Given the description of an element on the screen output the (x, y) to click on. 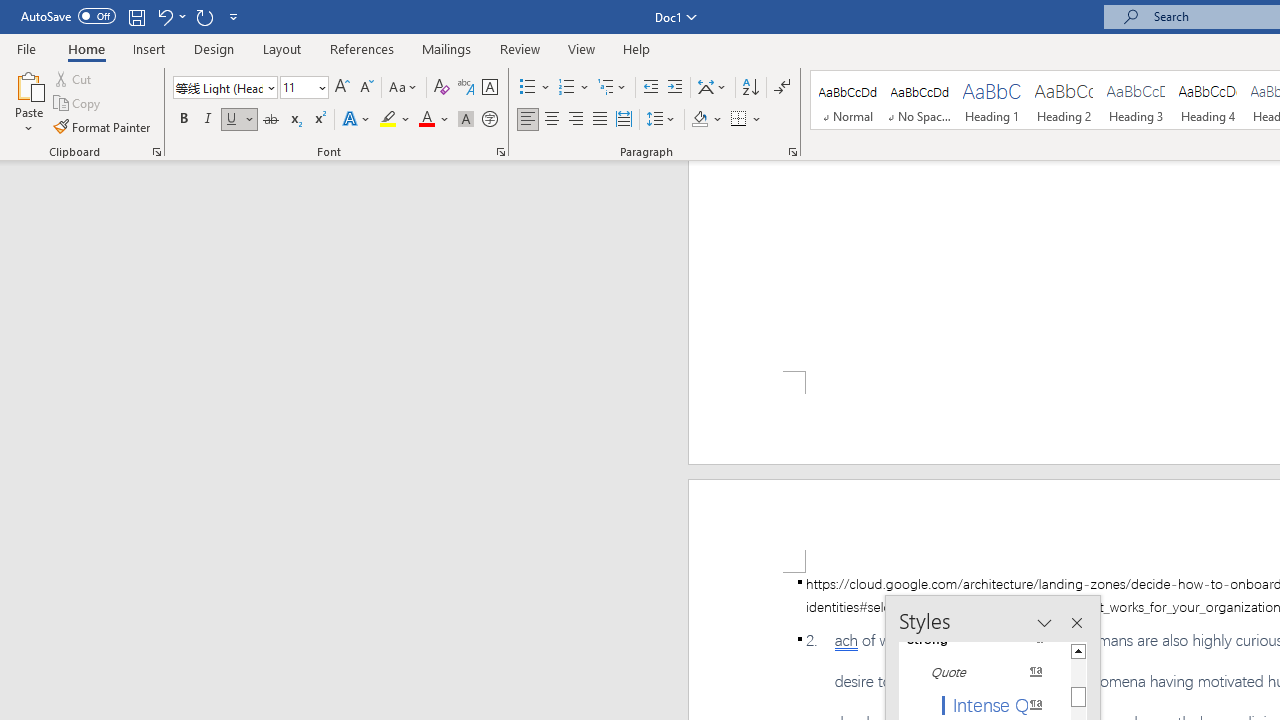
Heading 4 (1208, 100)
Text Highlight Color (395, 119)
Center (552, 119)
Increase Indent (675, 87)
Asian Layout (712, 87)
